Given the description of an element on the screen output the (x, y) to click on. 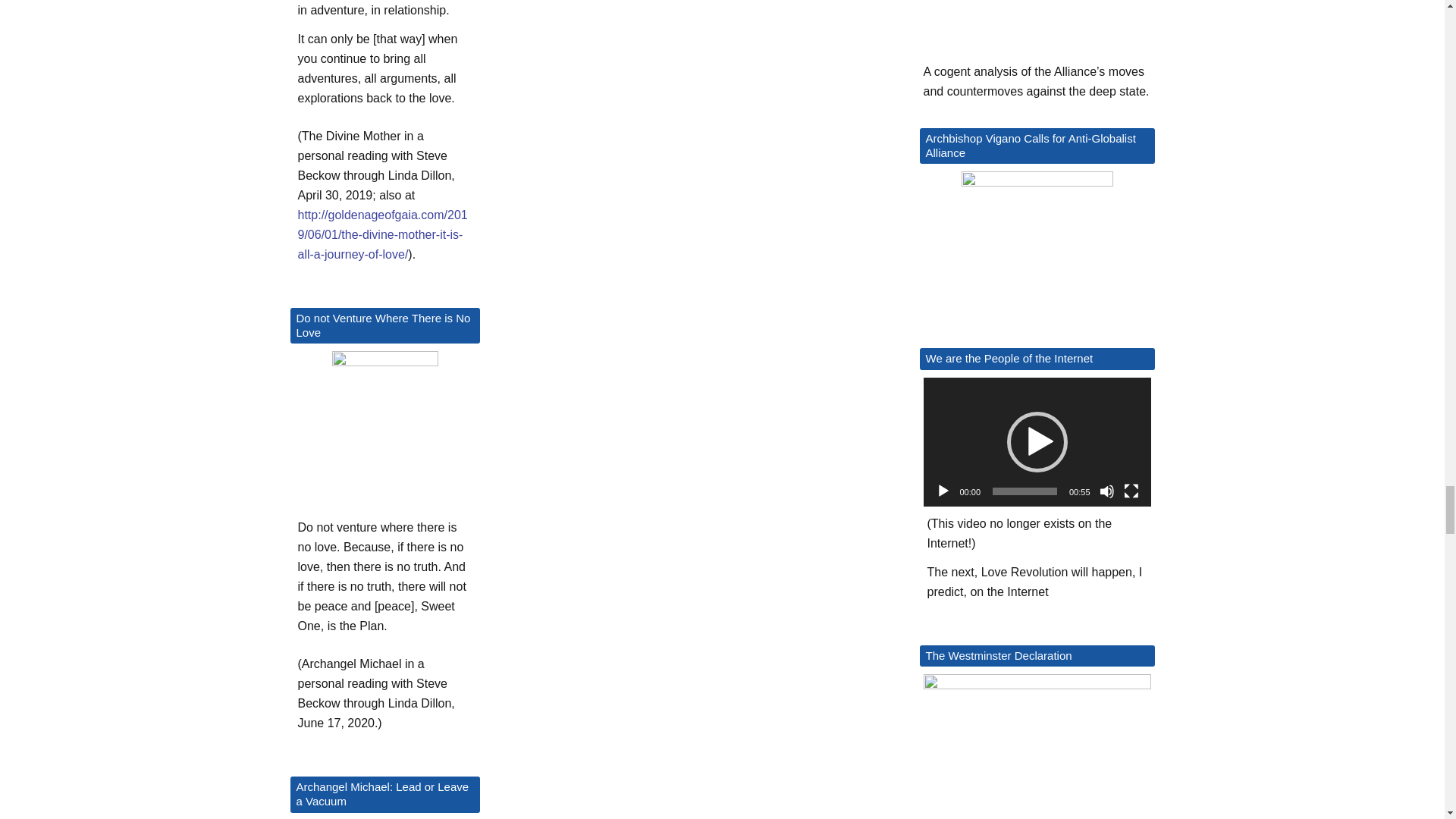
Mute (1107, 491)
Play (943, 491)
Fullscreen (1131, 491)
